Given the description of an element on the screen output the (x, y) to click on. 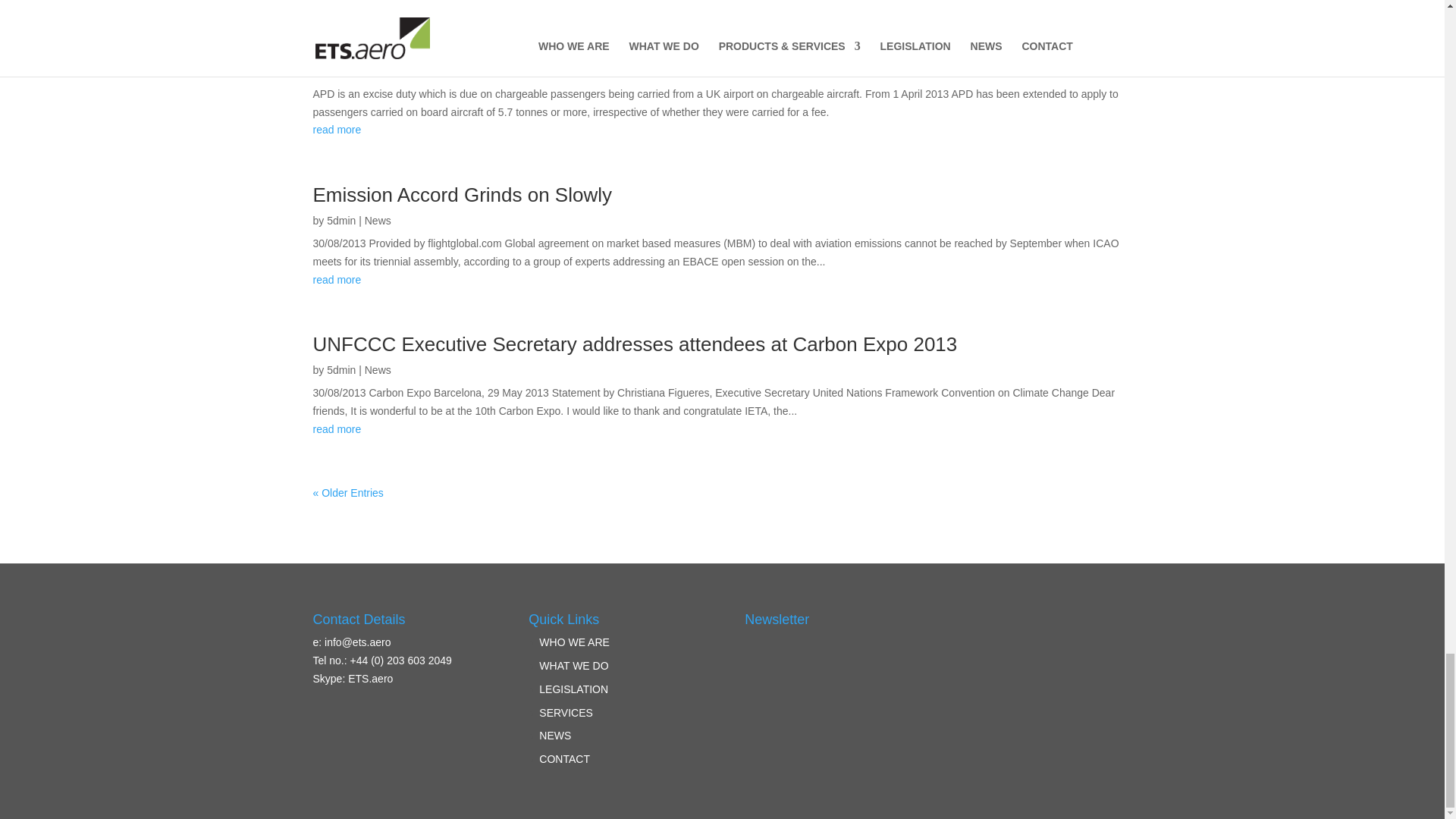
Posts by 5dmin (340, 42)
Posts by 5dmin (340, 369)
Air Passenger Duty (397, 15)
Posts by 5dmin (340, 220)
